Given the description of an element on the screen output the (x, y) to click on. 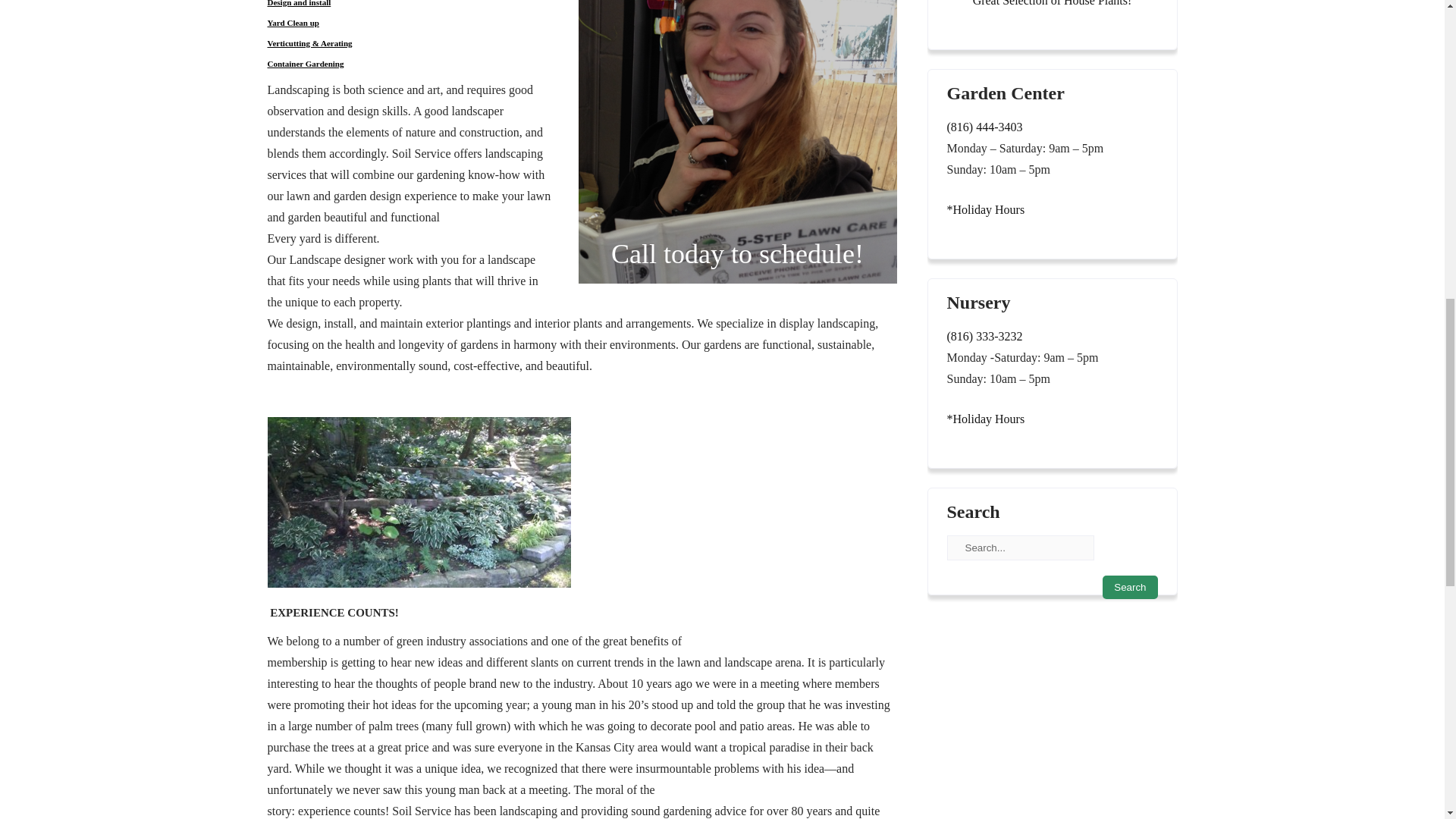
Search (1129, 586)
Search (1129, 586)
